Given the description of an element on the screen output the (x, y) to click on. 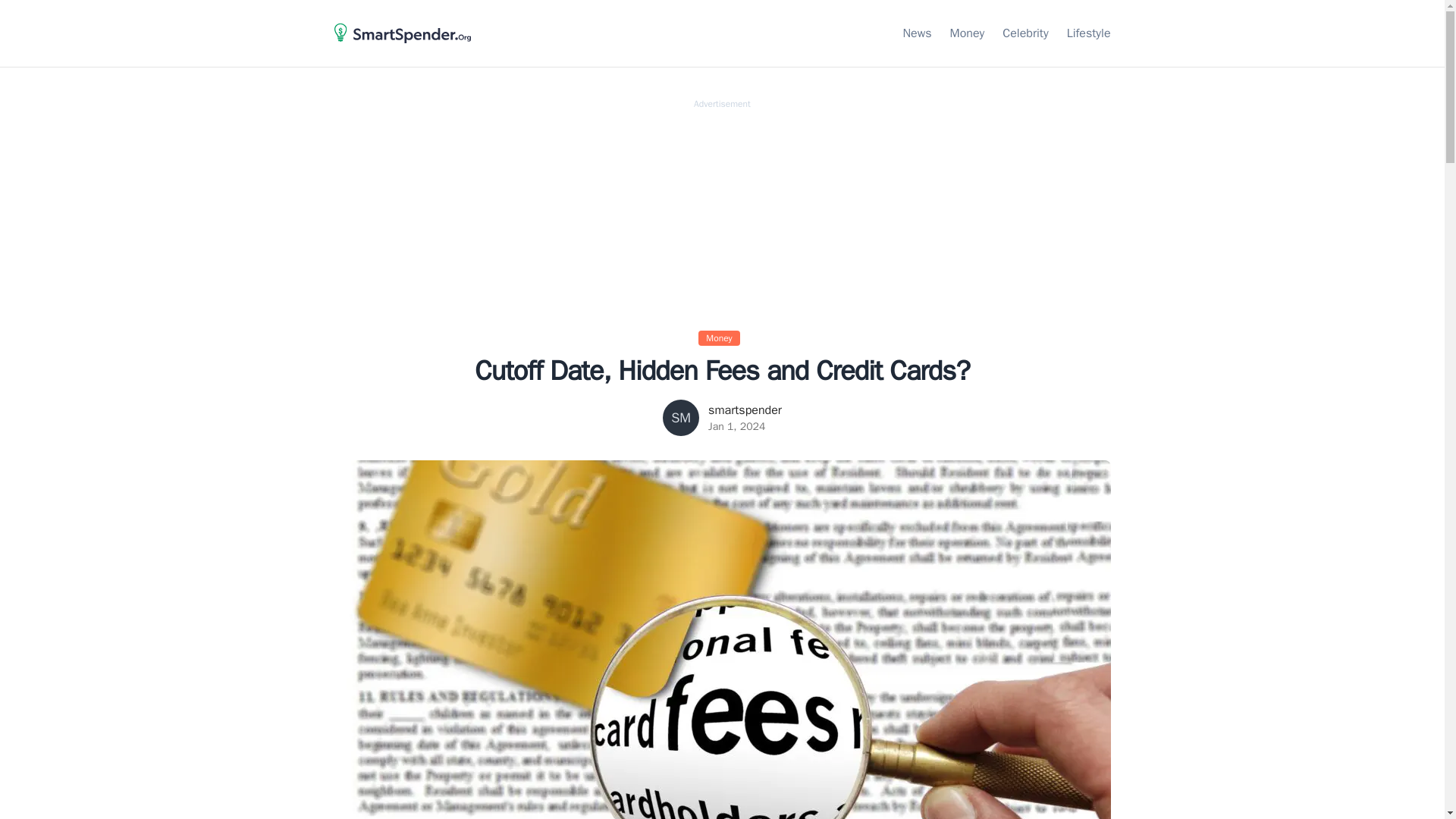
Link (916, 33)
Celebrity (1025, 33)
Lifestyle (1088, 33)
Link (1025, 33)
Link (1088, 33)
HomePage (401, 50)
Link (967, 33)
News (916, 33)
Money (967, 33)
Advertisement (721, 215)
Money (721, 337)
